Given the description of an element on the screen output the (x, y) to click on. 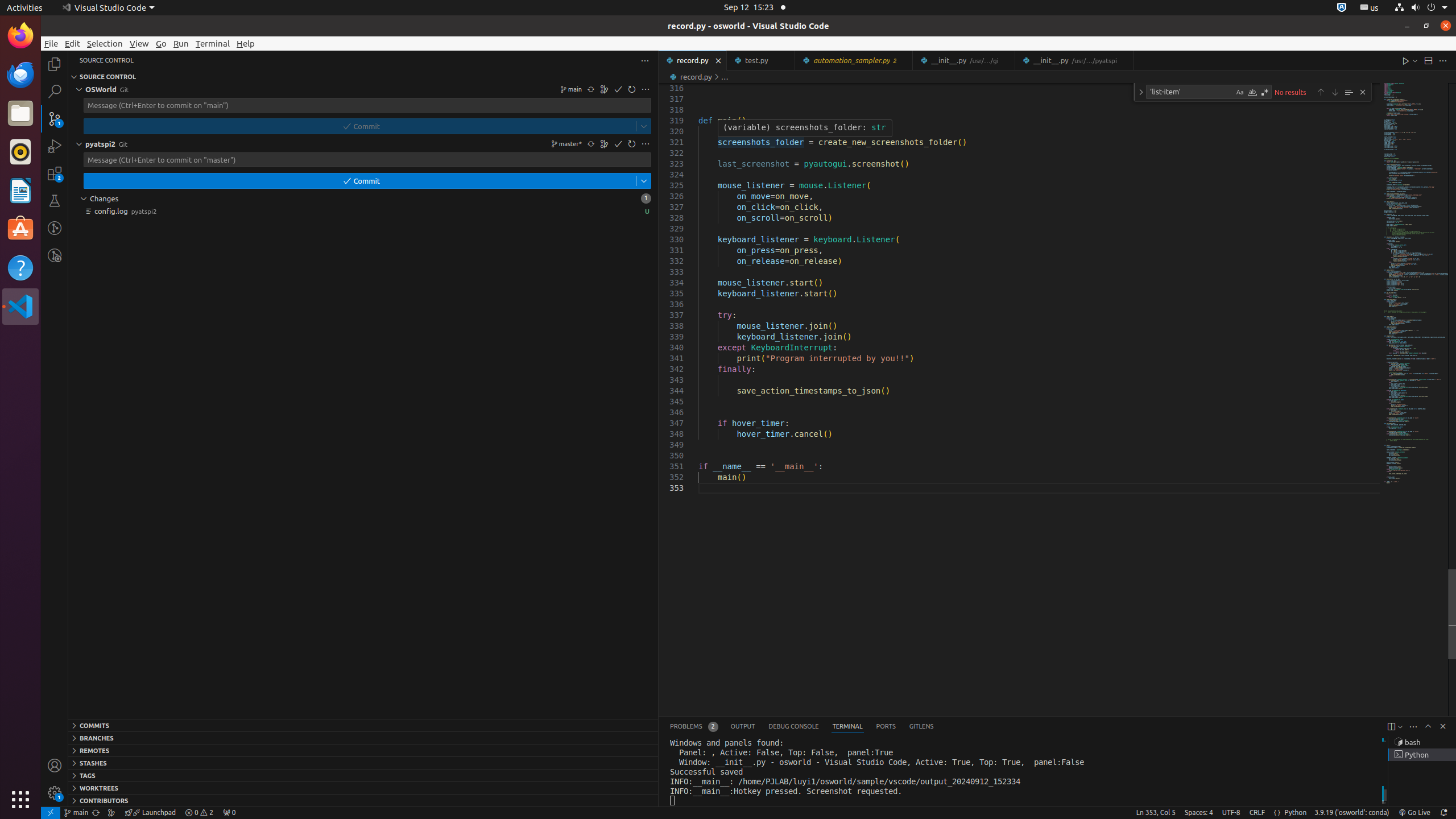
Run or Debug... Element type: push-button (1414, 60)
Split Editor Right (Ctrl+\) [Alt] Split Editor Down Element type: push-button (1427, 60)
Run Element type: push-button (181, 43)
Accounts Element type: push-button (54, 765)
